Given the description of an element on the screen output the (x, y) to click on. 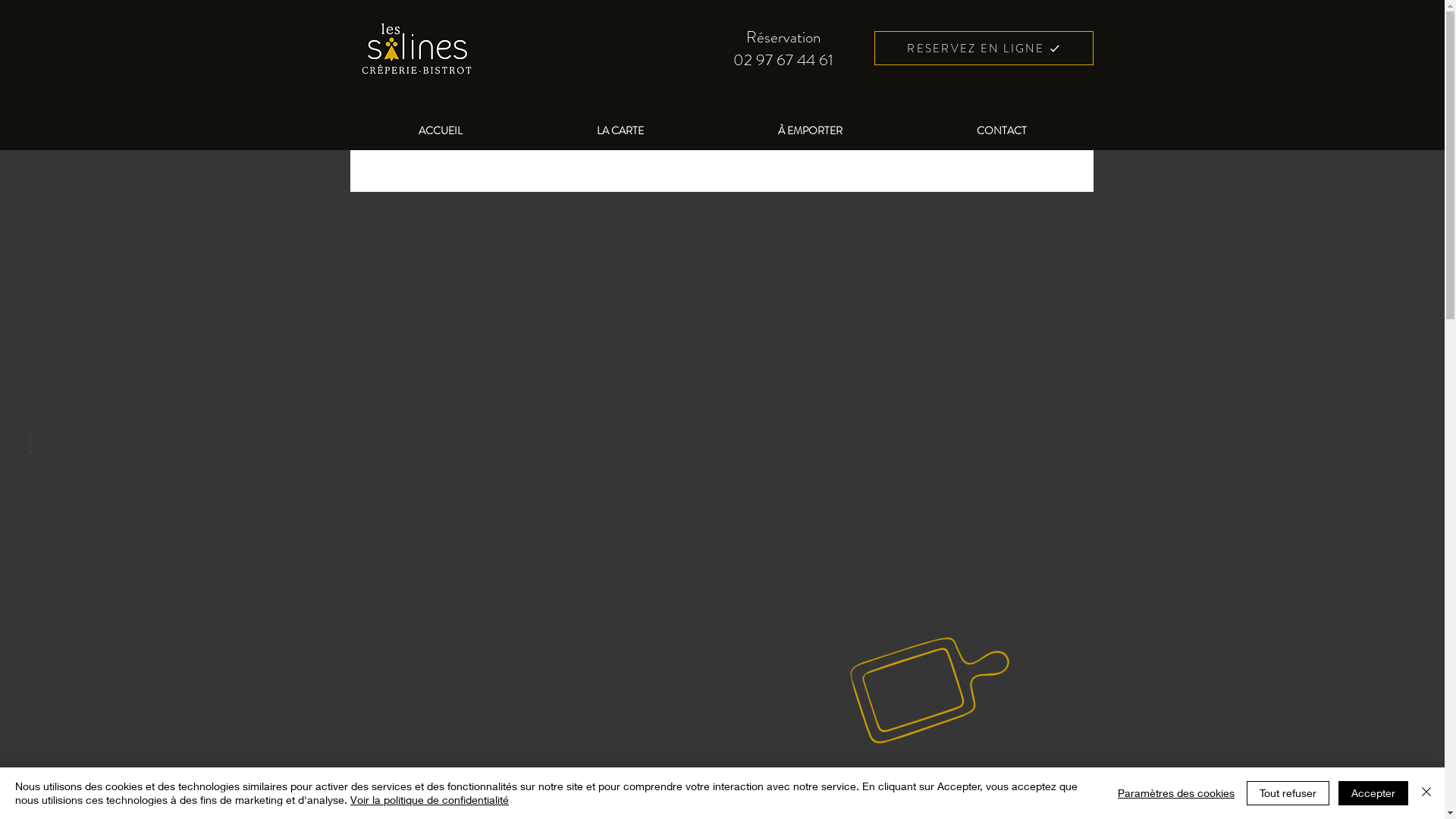
Menus Element type: hover (721, 174)
Scroll Element type: text (30, 409)
ACCUEIL Element type: text (439, 130)
RESERVEZ EN LIGNE Element type: text (982, 48)
Accepter Element type: text (1373, 793)
Tout refuser Element type: text (1287, 793)
LA CARTE Element type: text (619, 130)
CONTACT Element type: text (1002, 130)
